Given the description of an element on the screen output the (x, y) to click on. 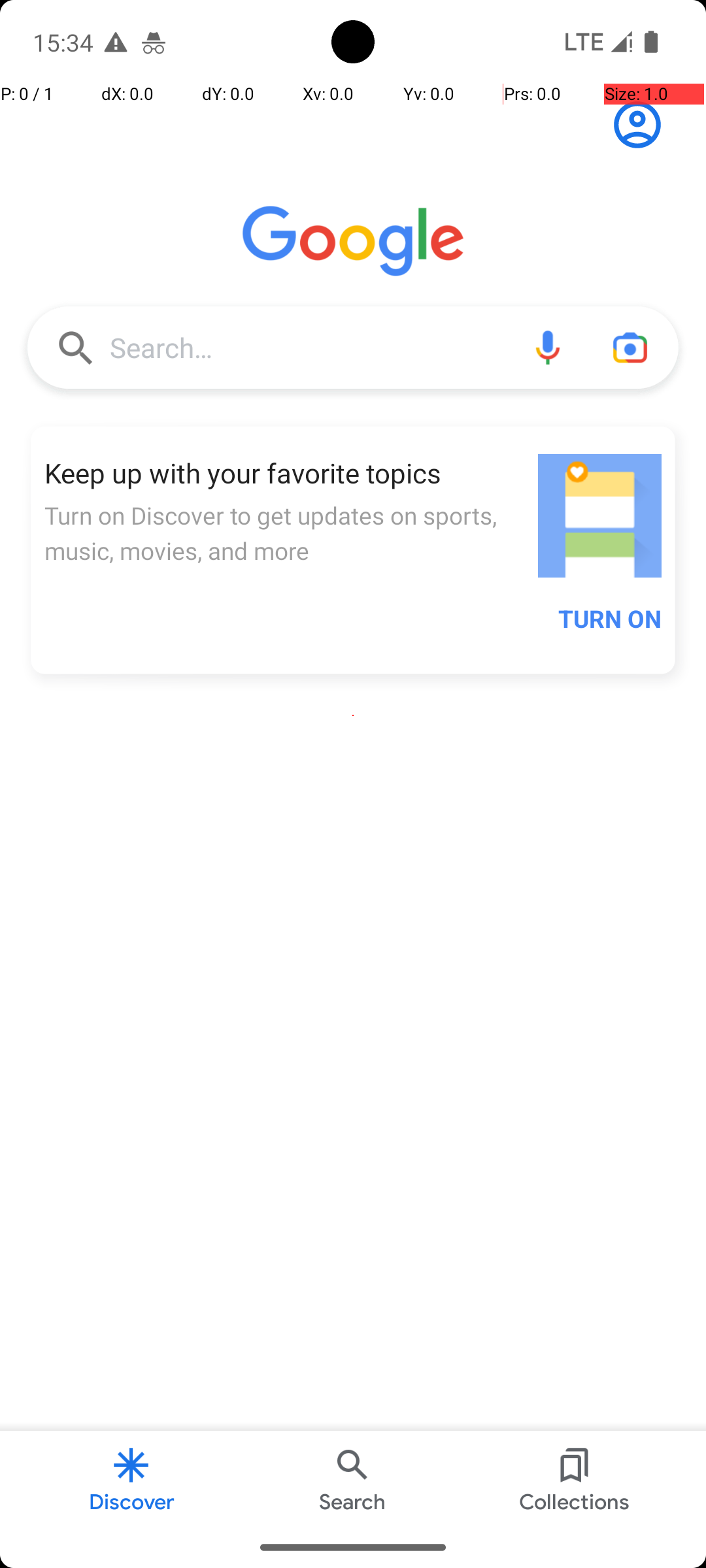
Discover Element type: android.widget.Button (130, 1478)
Collections Element type: android.widget.Button (574, 1478)
Camera search Element type: android.widget.ImageButton (629, 347)
Google logo Element type: android.widget.ImageView (353, 240)
Sign in Element type: android.widget.FrameLayout (644, 124)
Keep up with your favorite topics Element type: android.widget.TextView (284, 472)
Turn on Discover to get updates on sports, music, movies, and more Element type: android.widget.TextView (284, 532)
TURN ON Element type: android.widget.TextView (609, 618)
Voice Search Element type: android.widget.ImageView (547, 347)
